Given the description of an element on the screen output the (x, y) to click on. 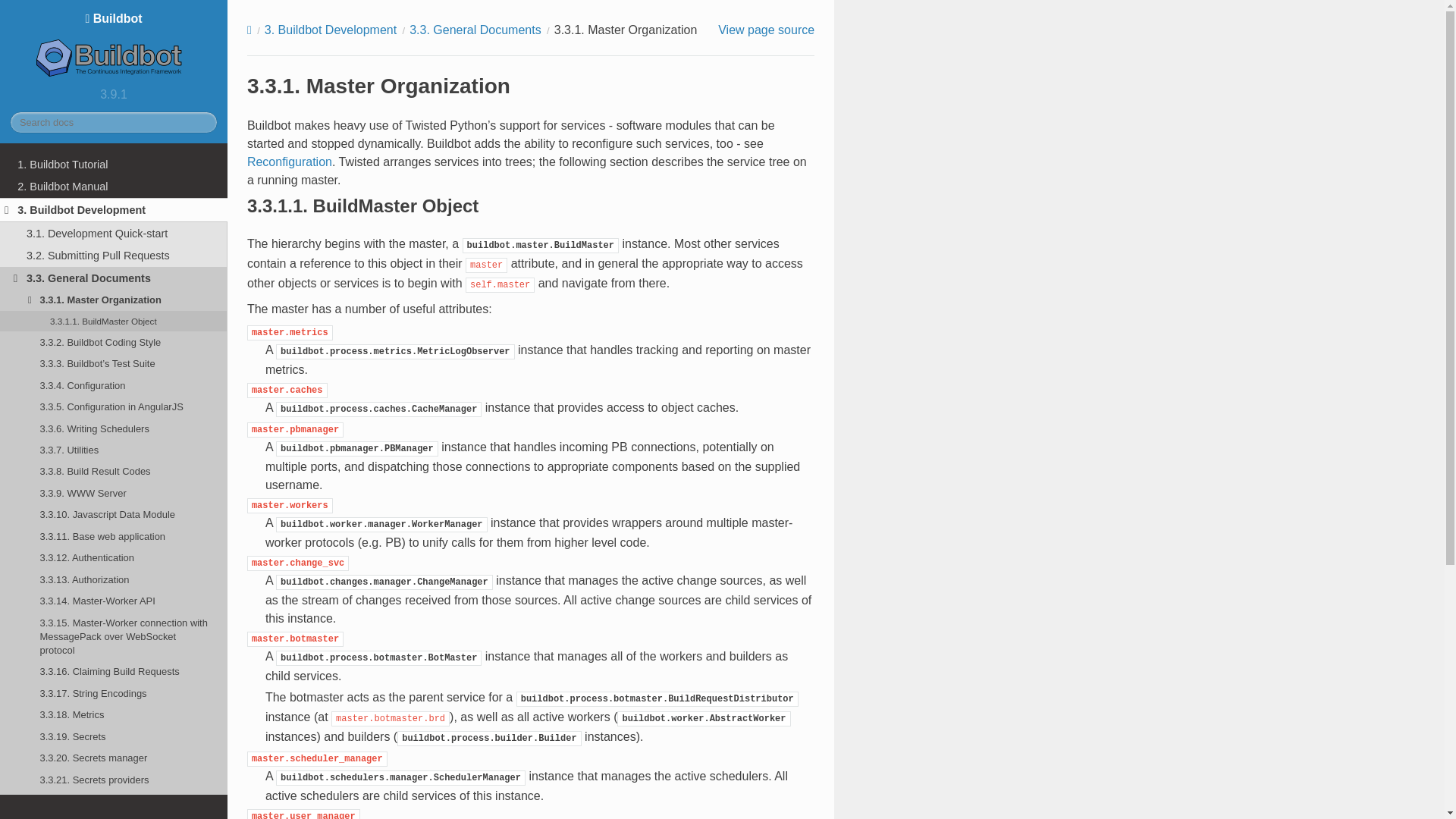
3.3.10. Javascript Data Module (113, 514)
3.3.17. String Encodings (113, 692)
3.3.1.1. BuildMaster Object (113, 321)
3.3.8. Build Result Codes (113, 471)
3. Buildbot Development (113, 209)
3.3.20. Secrets manager (113, 758)
3.3.13. Authorization (113, 579)
3.3.1. Master Organization (113, 300)
3.3.6. Writing Schedulers (113, 427)
3.3.2. Buildbot Coding Style (113, 341)
3.3.21. Secrets providers (113, 779)
3.3.18. Metrics (113, 714)
1. Buildbot Tutorial (113, 164)
3.3.16. Claiming Build Requests (113, 671)
